Given the description of an element on the screen output the (x, y) to click on. 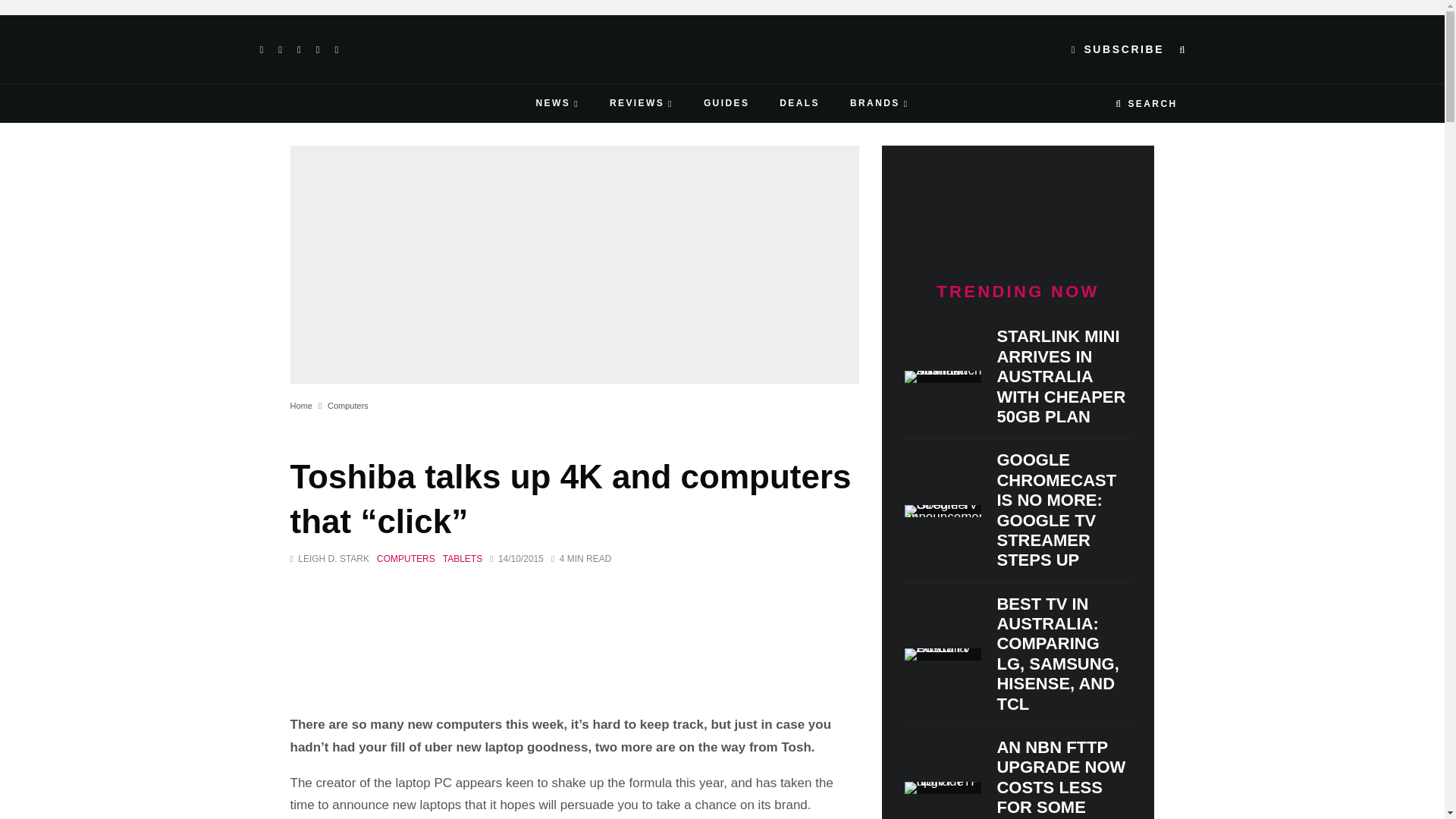
NBN FTTP upgrade (942, 787)
LG C3 OLED TV Australia (942, 654)
Starlink Mini launch Australia (942, 377)
NEWS (557, 103)
SUBSCRIBE (1118, 49)
Google TV Streamer announcement (942, 510)
